Given the description of an element on the screen output the (x, y) to click on. 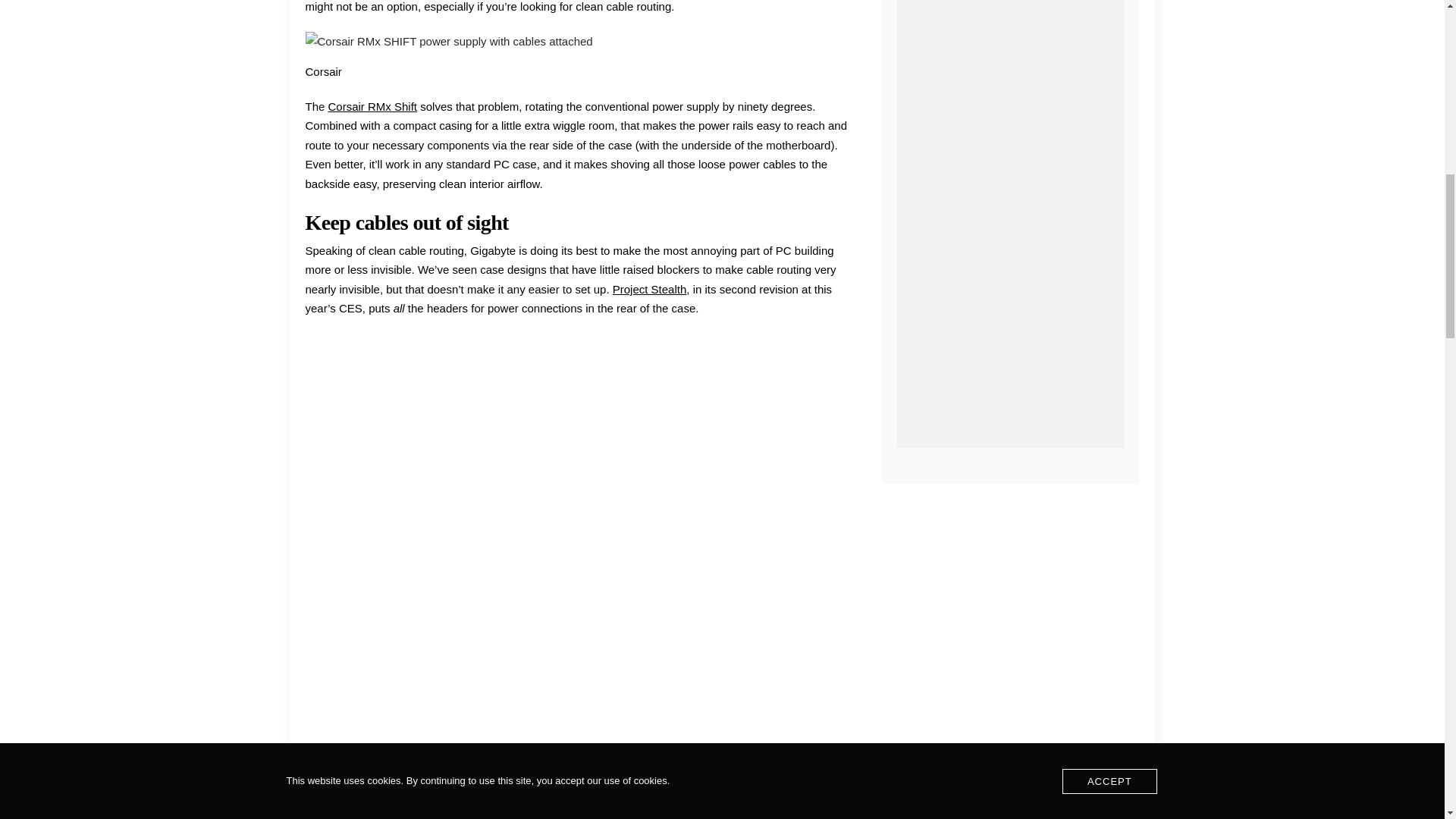
Corsair RMx Shift (373, 106)
Project Stealth (649, 288)
